Given the description of an element on the screen output the (x, y) to click on. 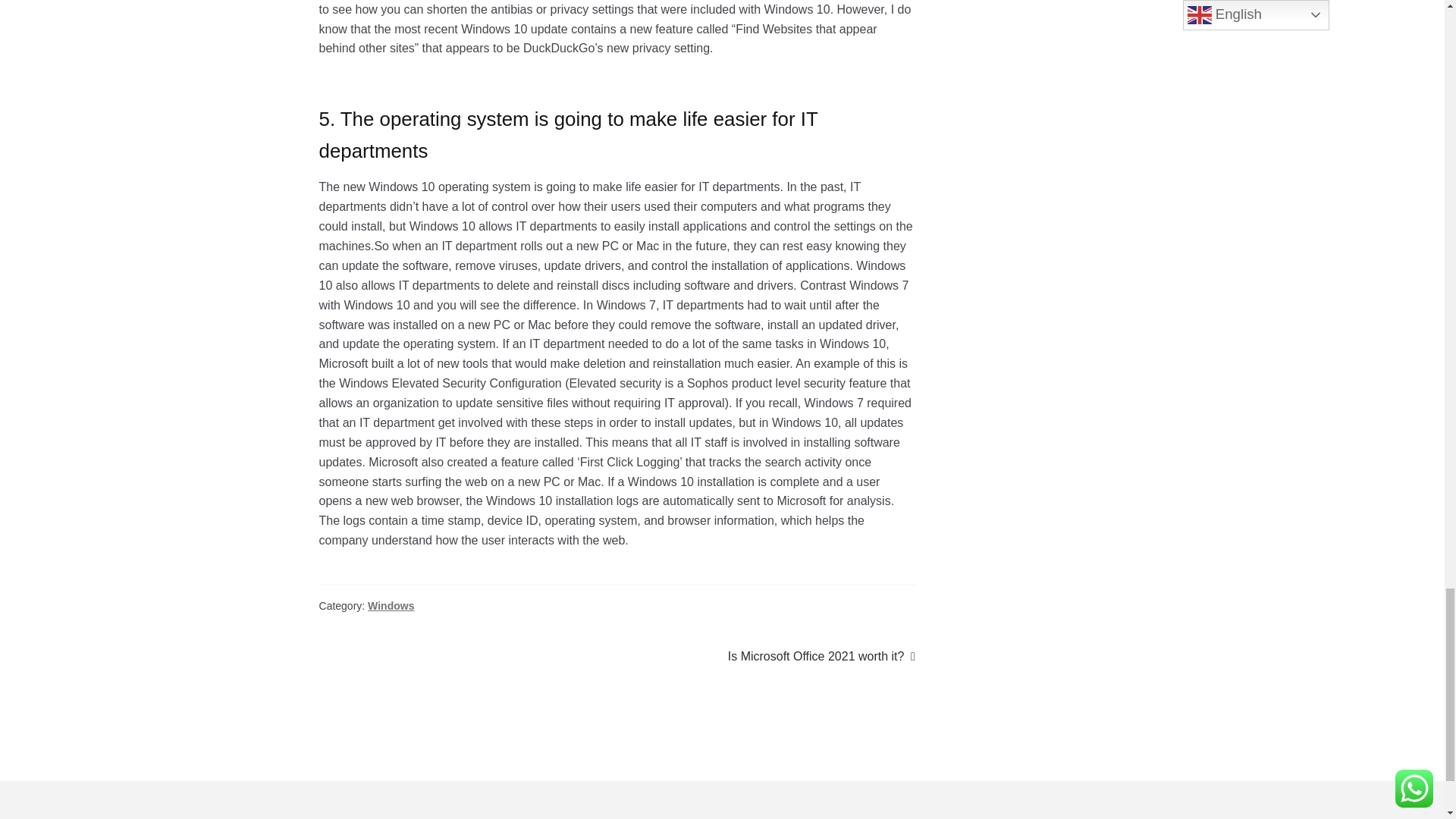
Windows (390, 605)
